Given the description of an element on the screen output the (x, y) to click on. 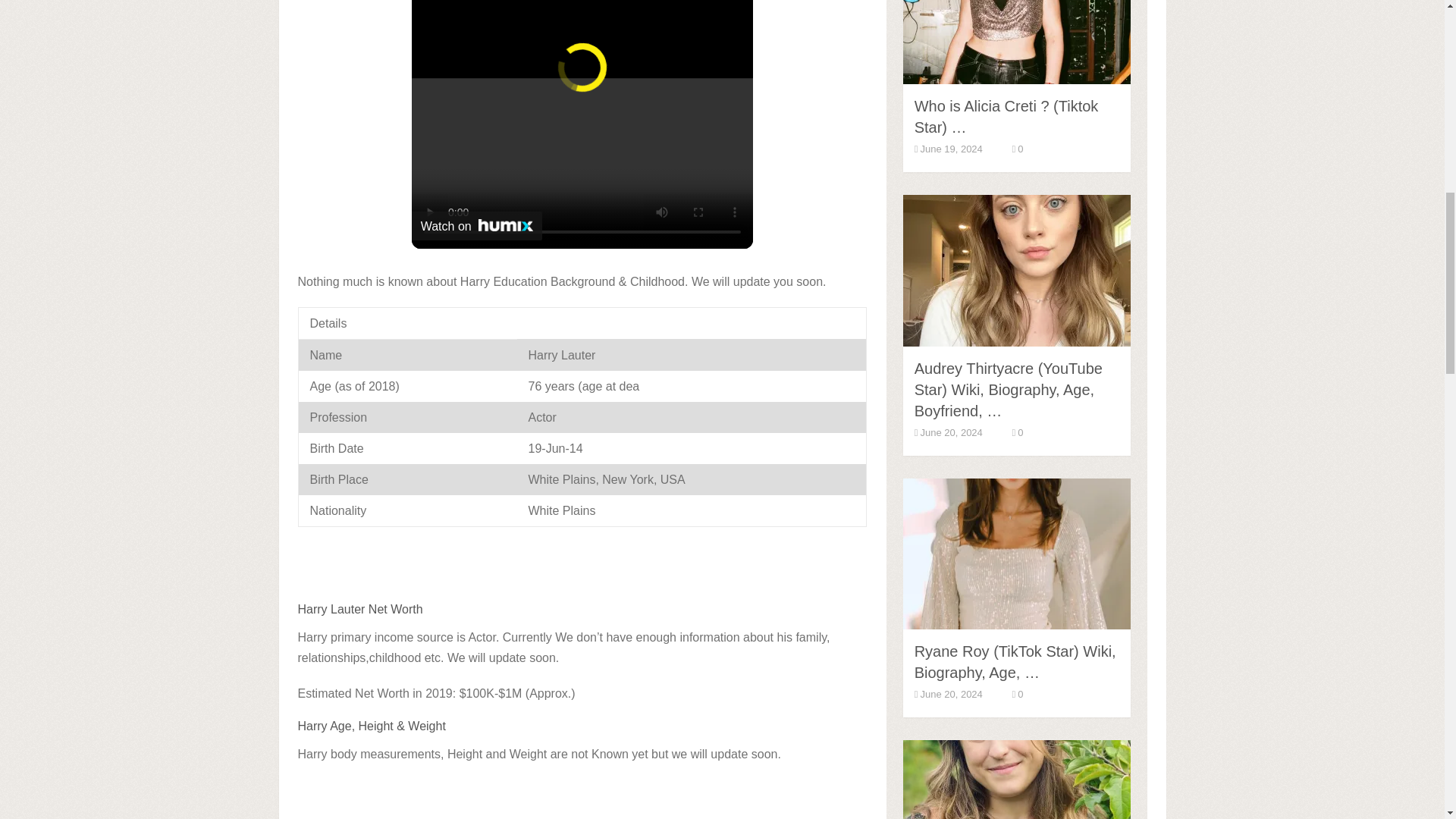
Watch on (476, 225)
